Given the description of an element on the screen output the (x, y) to click on. 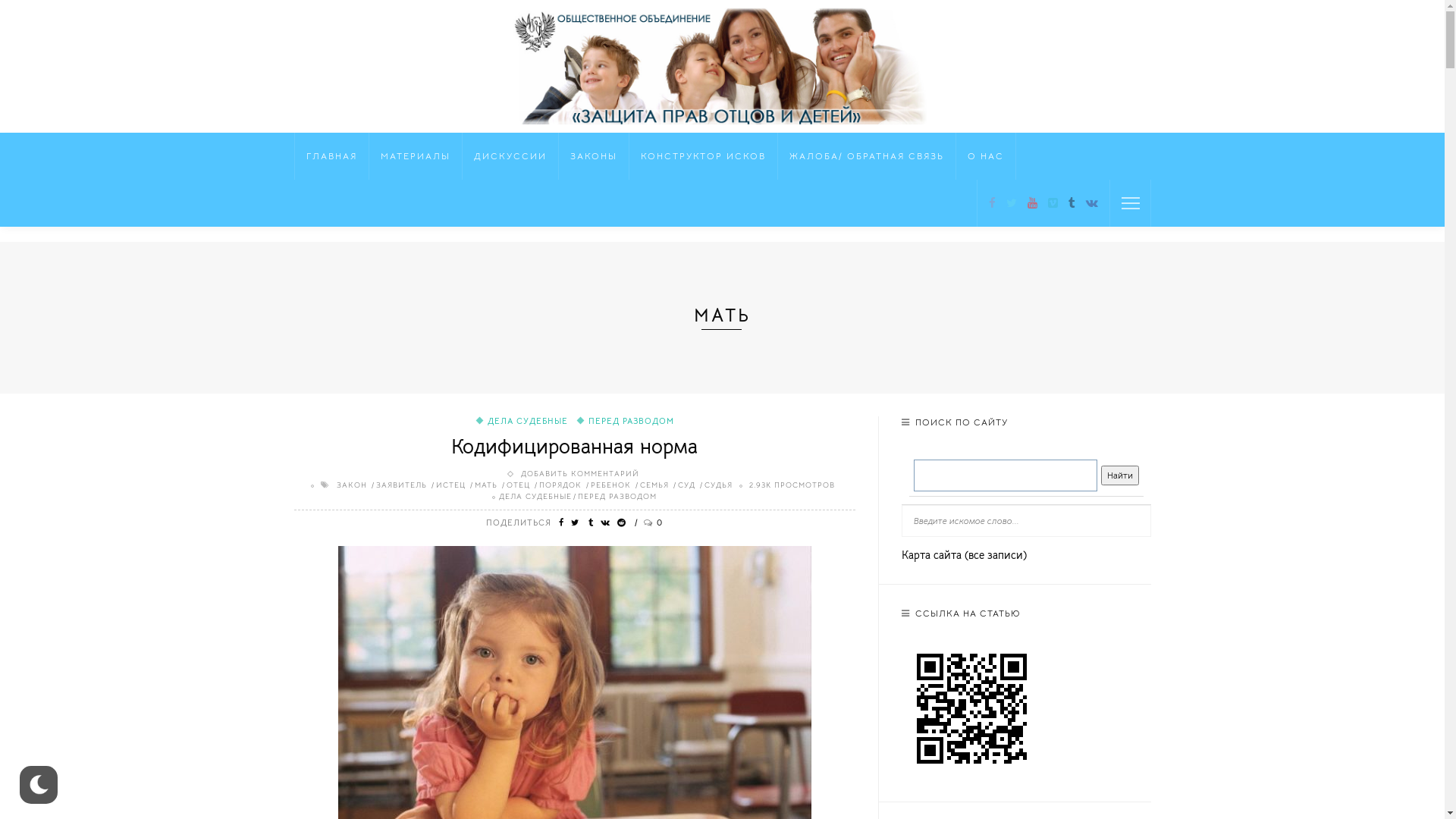
0 Element type: text (648, 522)
